Given the description of an element on the screen output the (x, y) to click on. 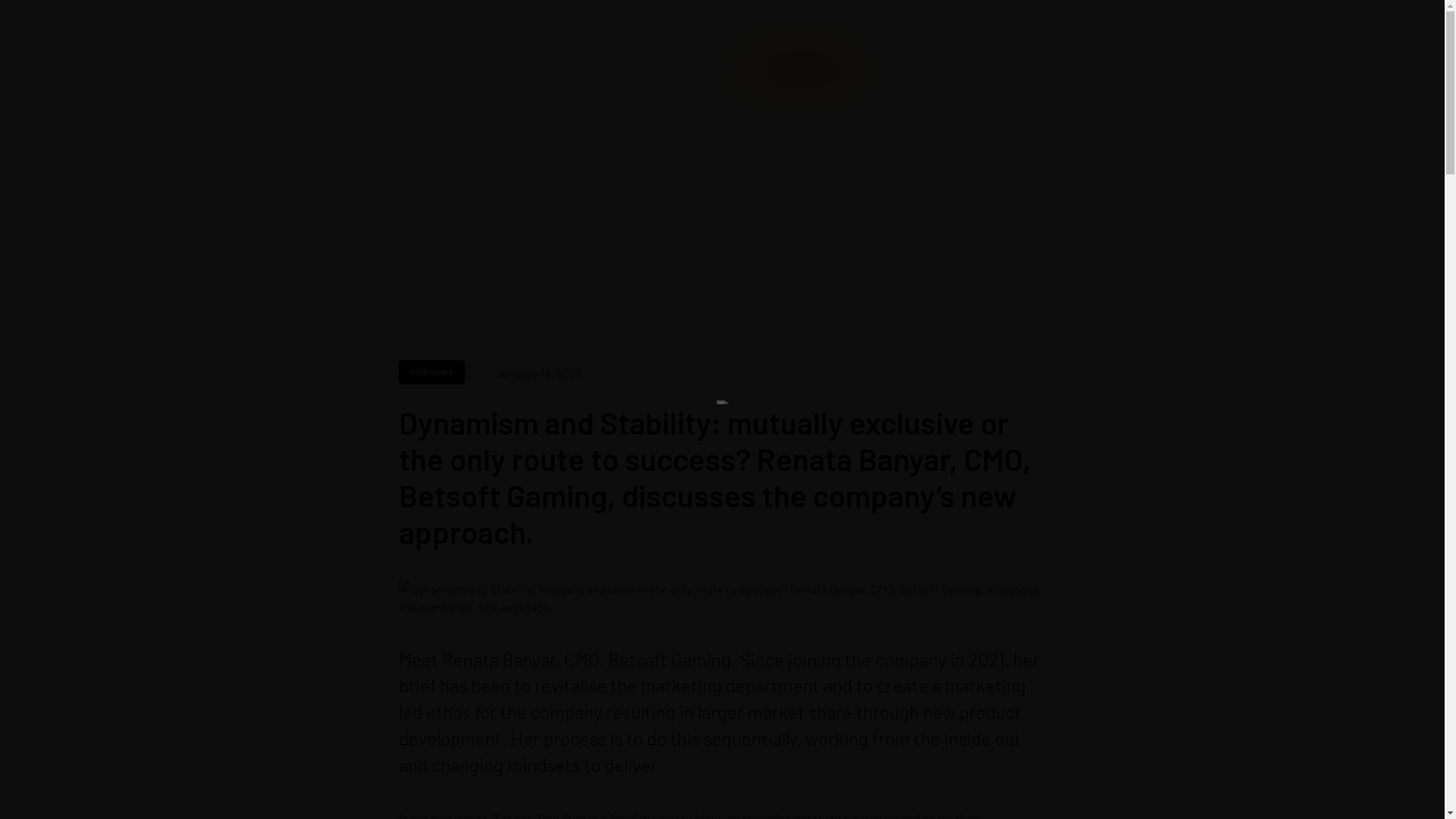
News (410, 69)
Get in Touch (693, 69)
Client Area (800, 69)
Careers (624, 69)
